Given the description of an element on the screen output the (x, y) to click on. 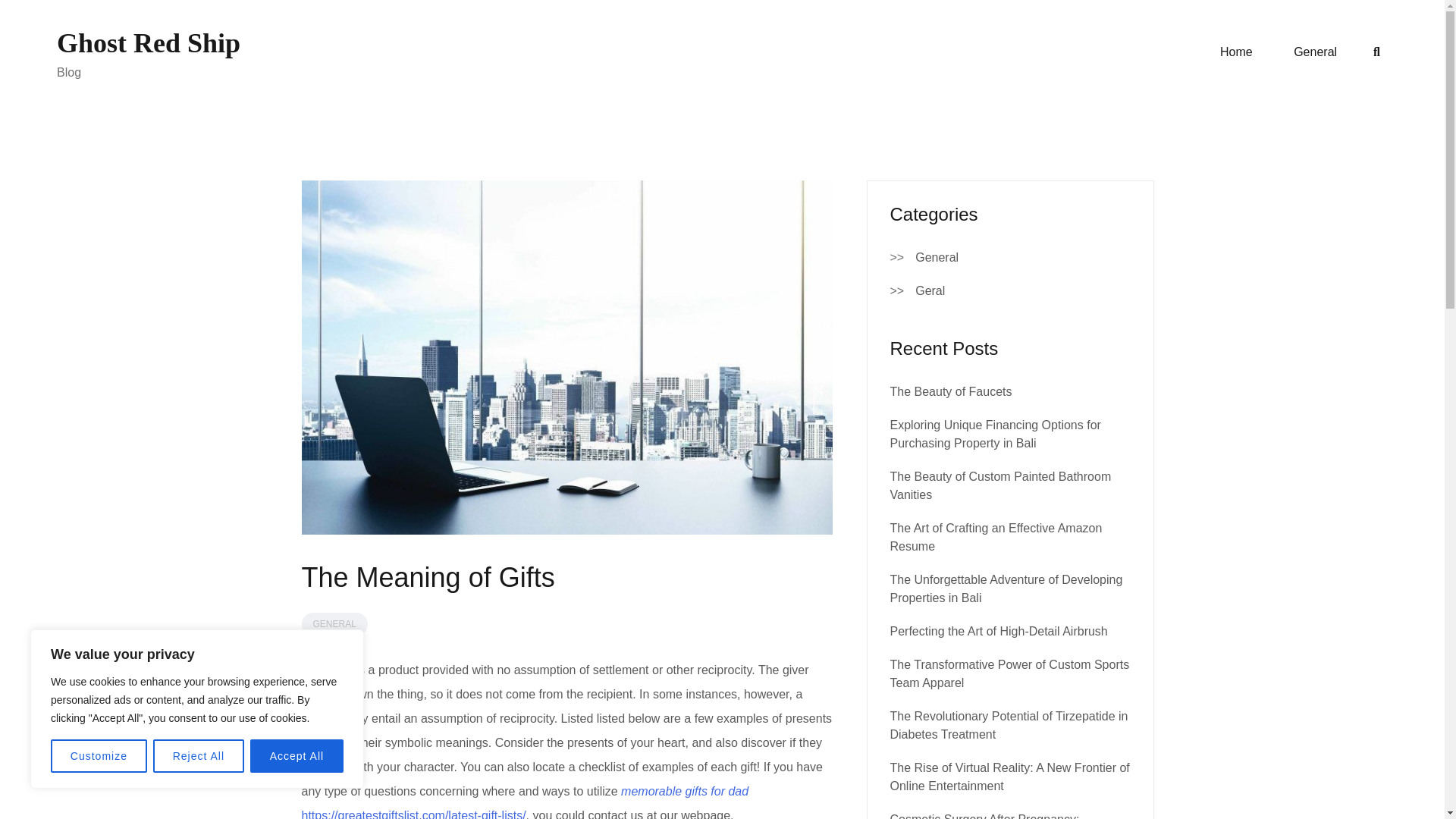
General (1315, 52)
Customize (98, 756)
The Art of Crafting an Effective Amazon Resume (995, 536)
Reject All (198, 756)
GENERAL (334, 623)
Geral (929, 290)
Ghost Red Ship (148, 42)
General (936, 257)
Accept All (296, 756)
The Beauty of Faucets (950, 391)
The Beauty of Custom Painted Bathroom Vanities (1000, 485)
Home (1236, 52)
